Given the description of an element on the screen output the (x, y) to click on. 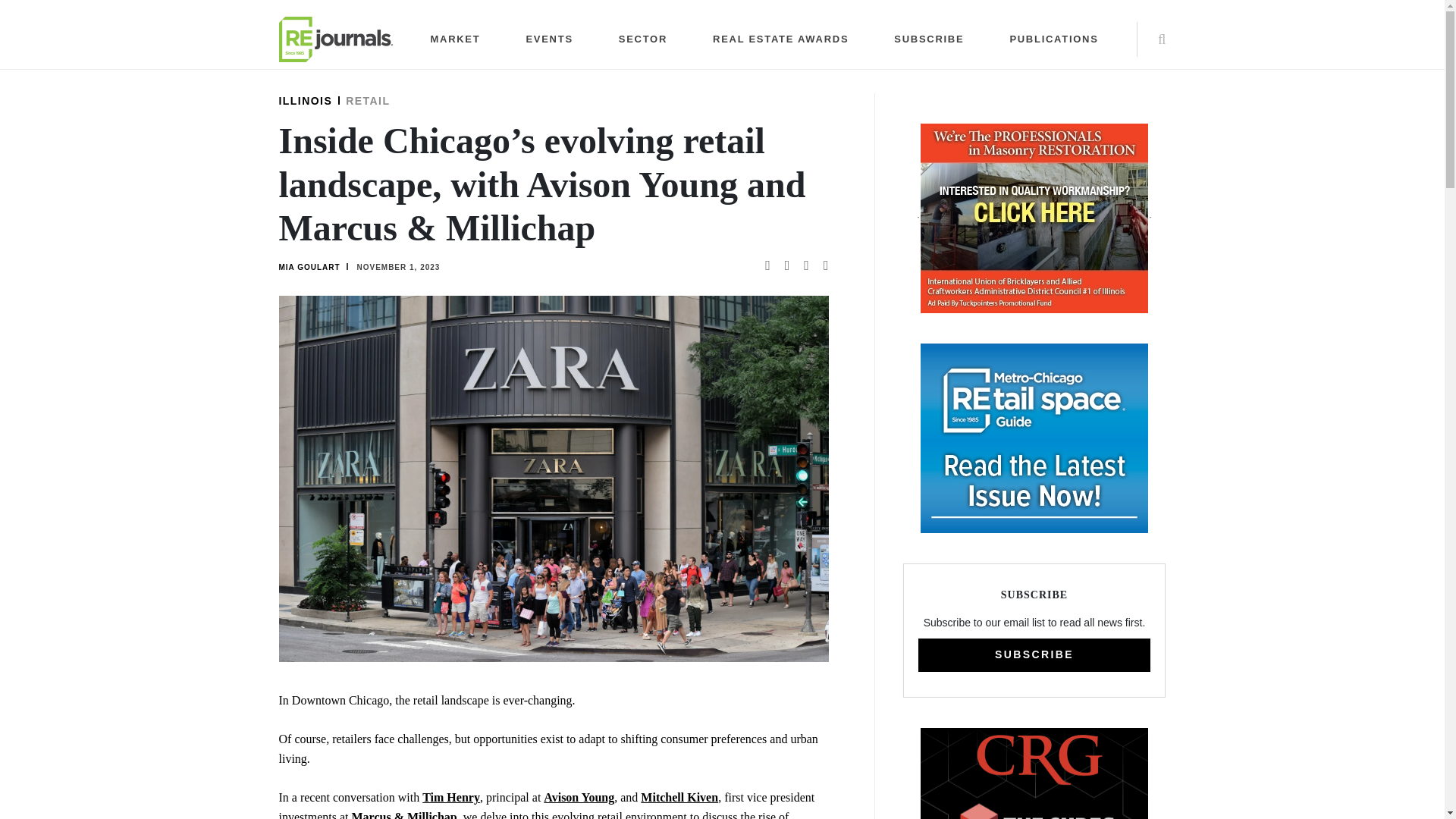
MARKET (454, 38)
SECTOR (642, 38)
EVENTS (548, 38)
